Given the description of an element on the screen output the (x, y) to click on. 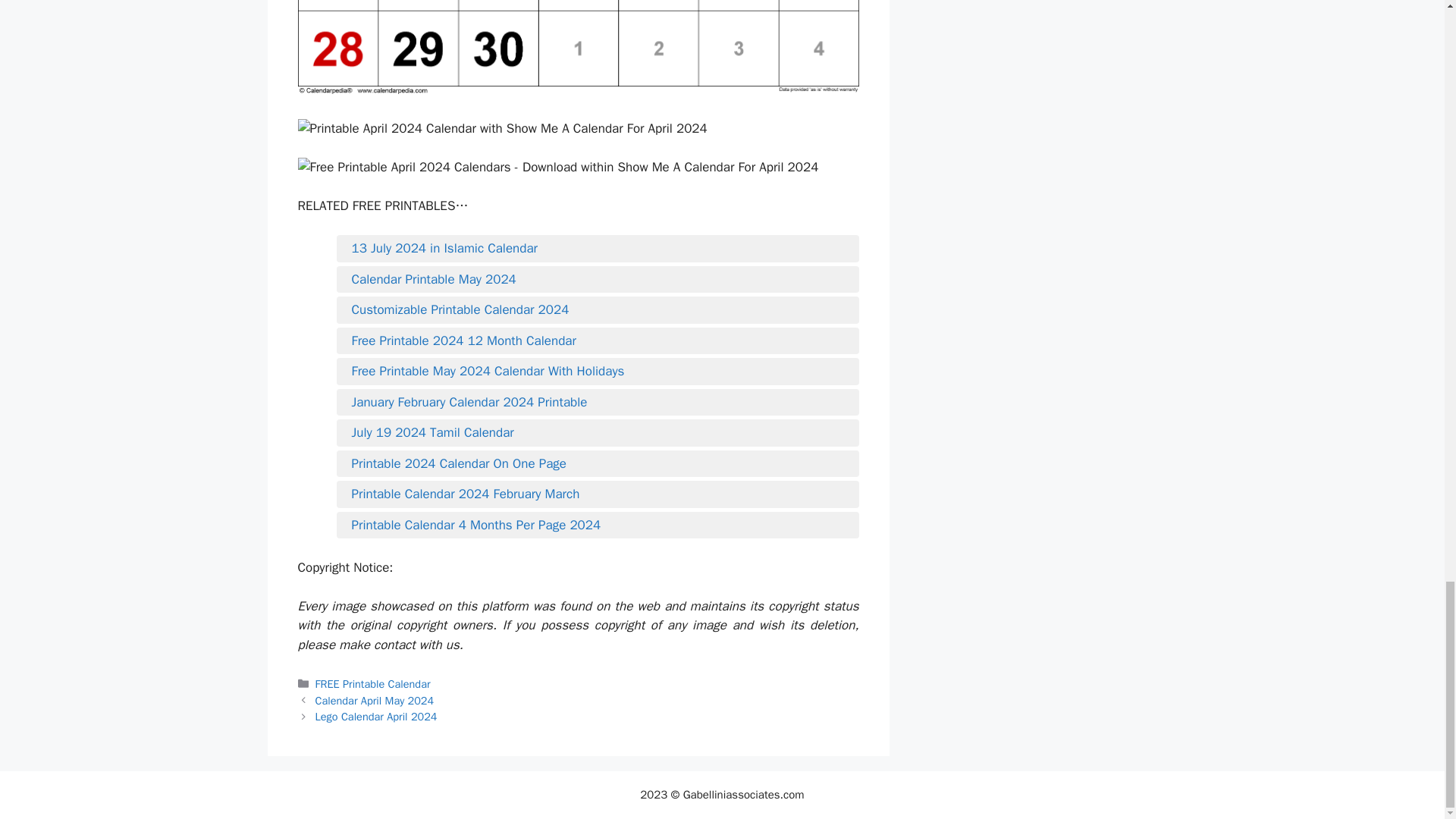
Lego Calendar April 2024 (376, 716)
Calendar April May 2024 (374, 700)
Customizable Printable Calendar 2024 (597, 309)
Free Printable May 2024 Calendar With Holidays (597, 371)
January February Calendar 2024 Printable (597, 402)
July 19 2024 Tamil Calendar (597, 432)
FREE Printable Calendar (372, 684)
Printable Calendar 4 Months Per Page 2024 (597, 525)
13 July 2024 in Islamic Calendar (597, 248)
Free Printable 2024 12 Month Calendar (597, 341)
Calendar Printable May 2024 (597, 279)
Printable Calendar 2024 February March (597, 494)
Printable 2024 Calendar On One Page (597, 463)
